Given the description of an element on the screen output the (x, y) to click on. 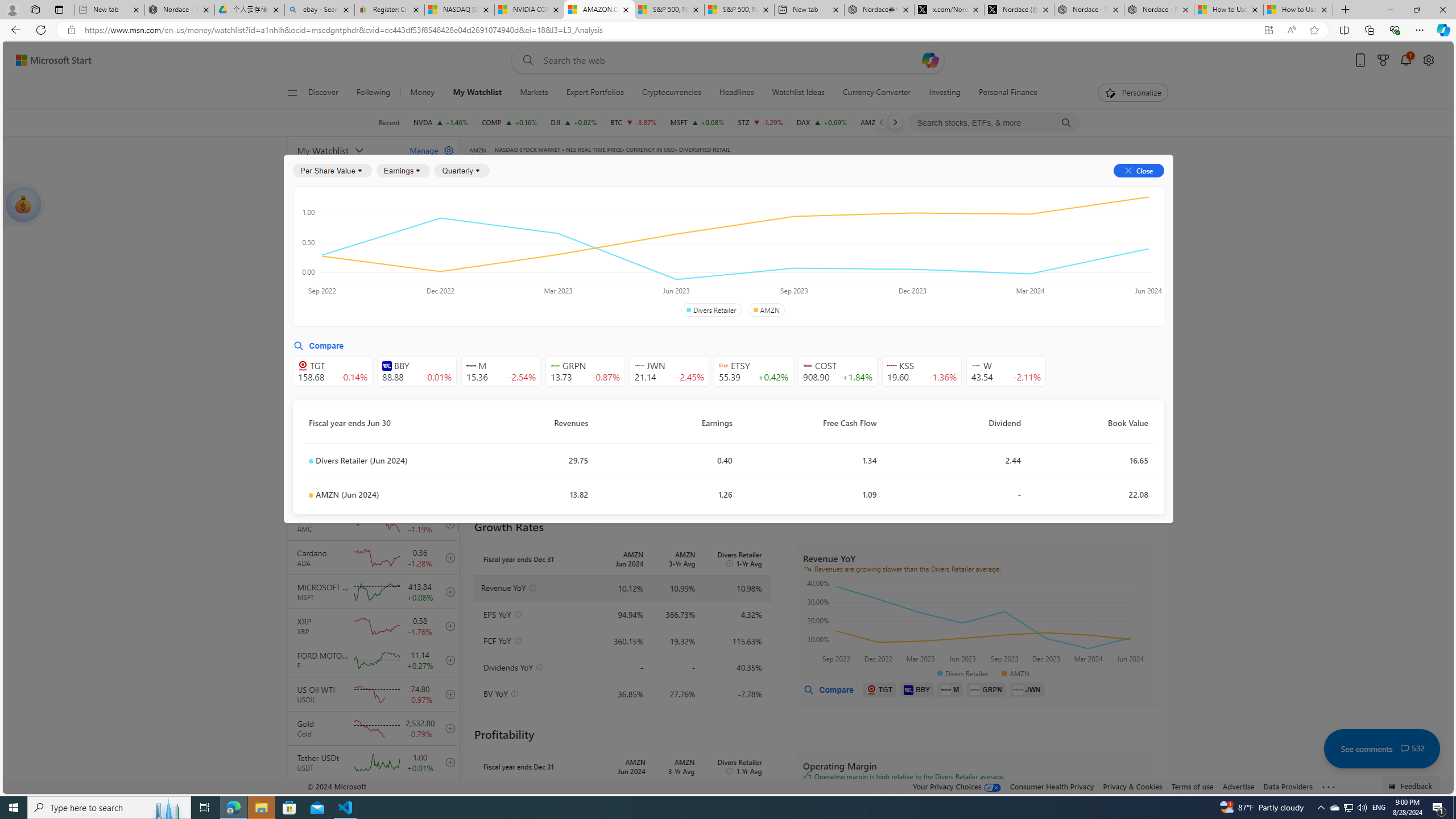
show card (22, 204)
Compare (722, 166)
Class: oneFooter_seeMore-DS-EntryPoint1-1 (1328, 786)
Manage (427, 150)
All (479, 253)
DJI DOW increase 41,250.50 +9.98 +0.02% (573, 122)
Investing (944, 92)
Summary (789, 188)
Previous (881, 122)
Key Ratios (493, 223)
Recent (389, 121)
Annual (491, 286)
